Given the description of an element on the screen output the (x, y) to click on. 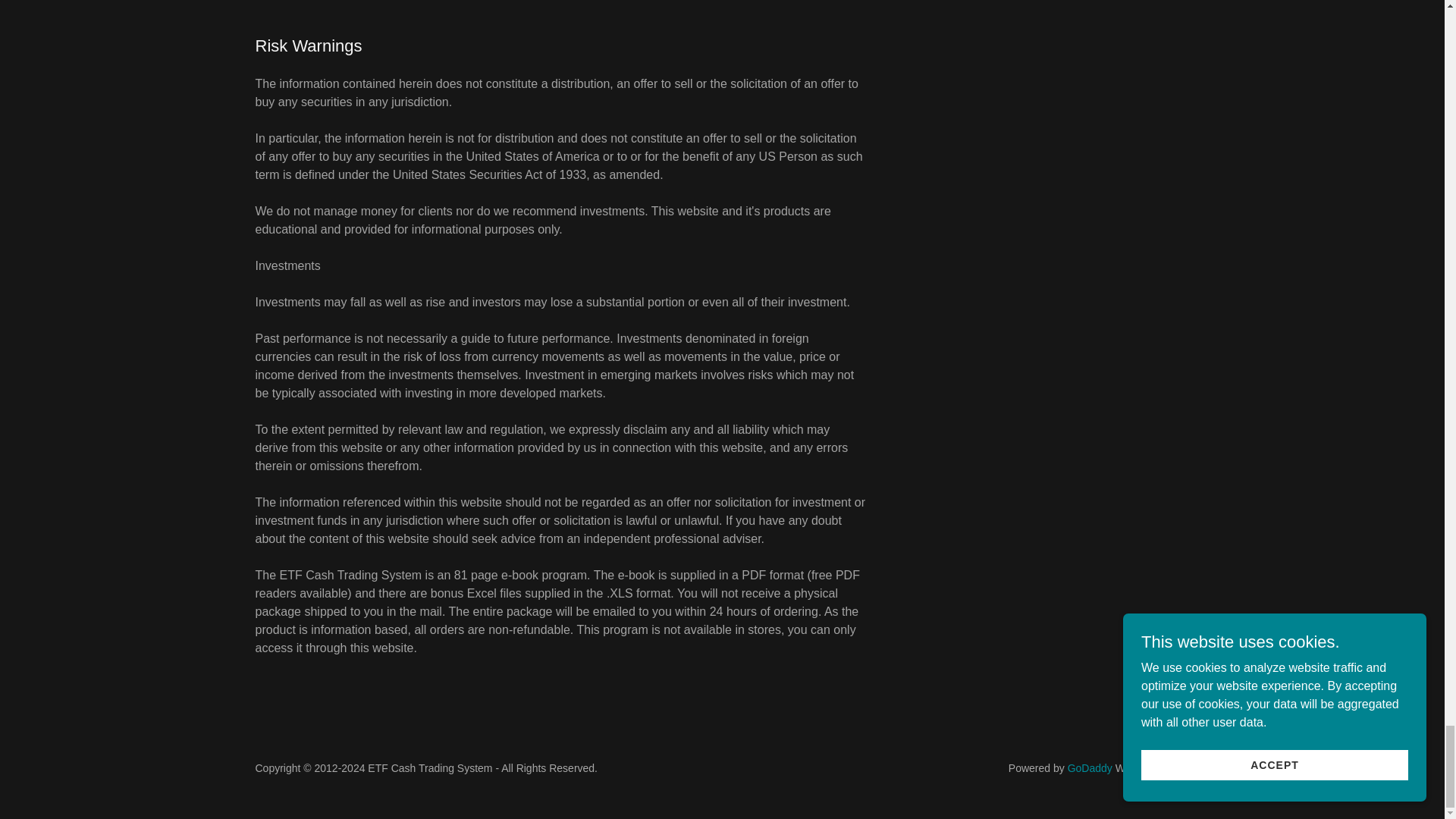
GoDaddy (1089, 767)
